Given the description of an element on the screen output the (x, y) to click on. 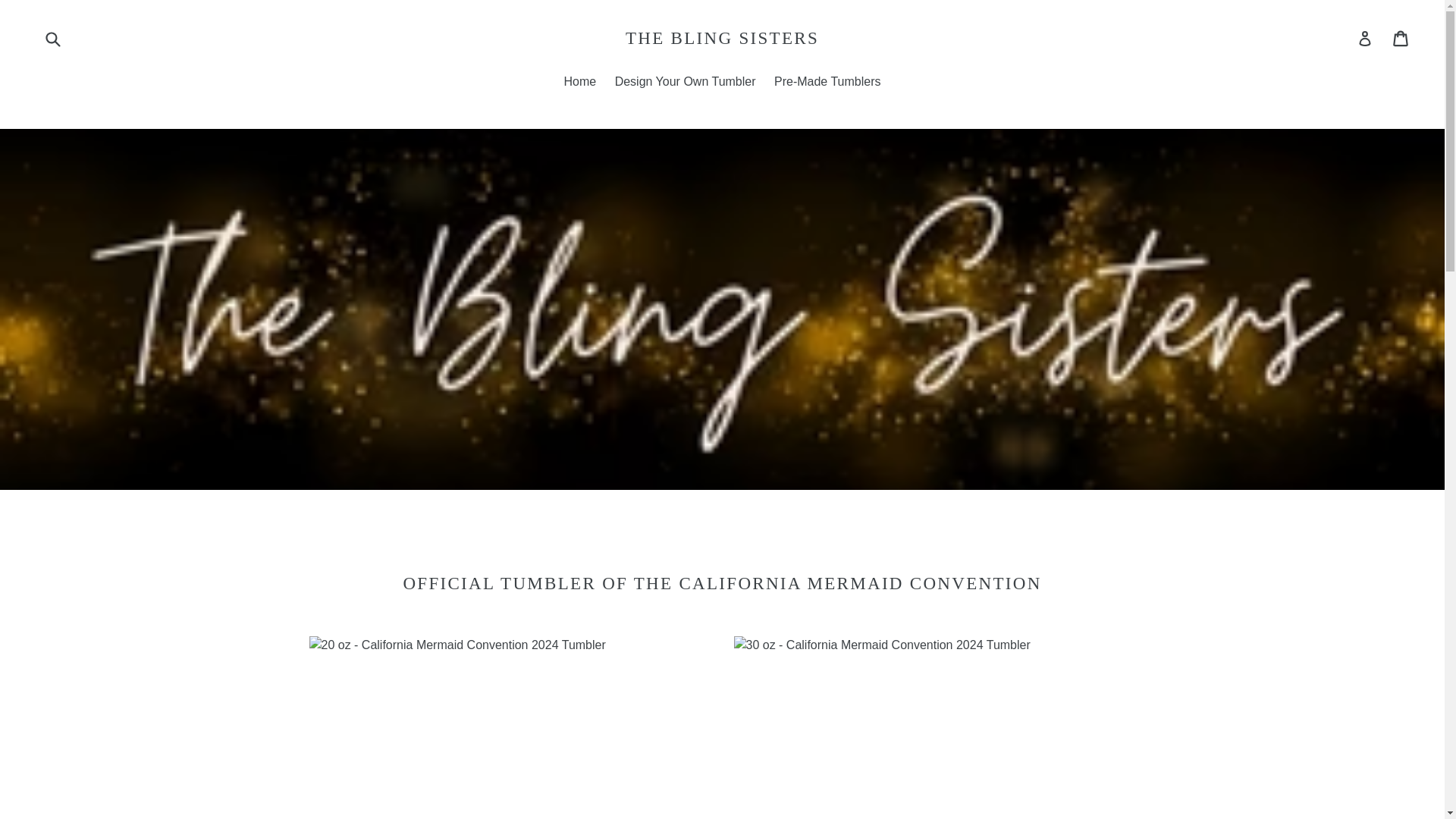
Home (580, 82)
THE BLING SISTERS (722, 38)
Pre-Made Tumblers (827, 82)
Design Your Own Tumbler (684, 82)
